Given the description of an element on the screen output the (x, y) to click on. 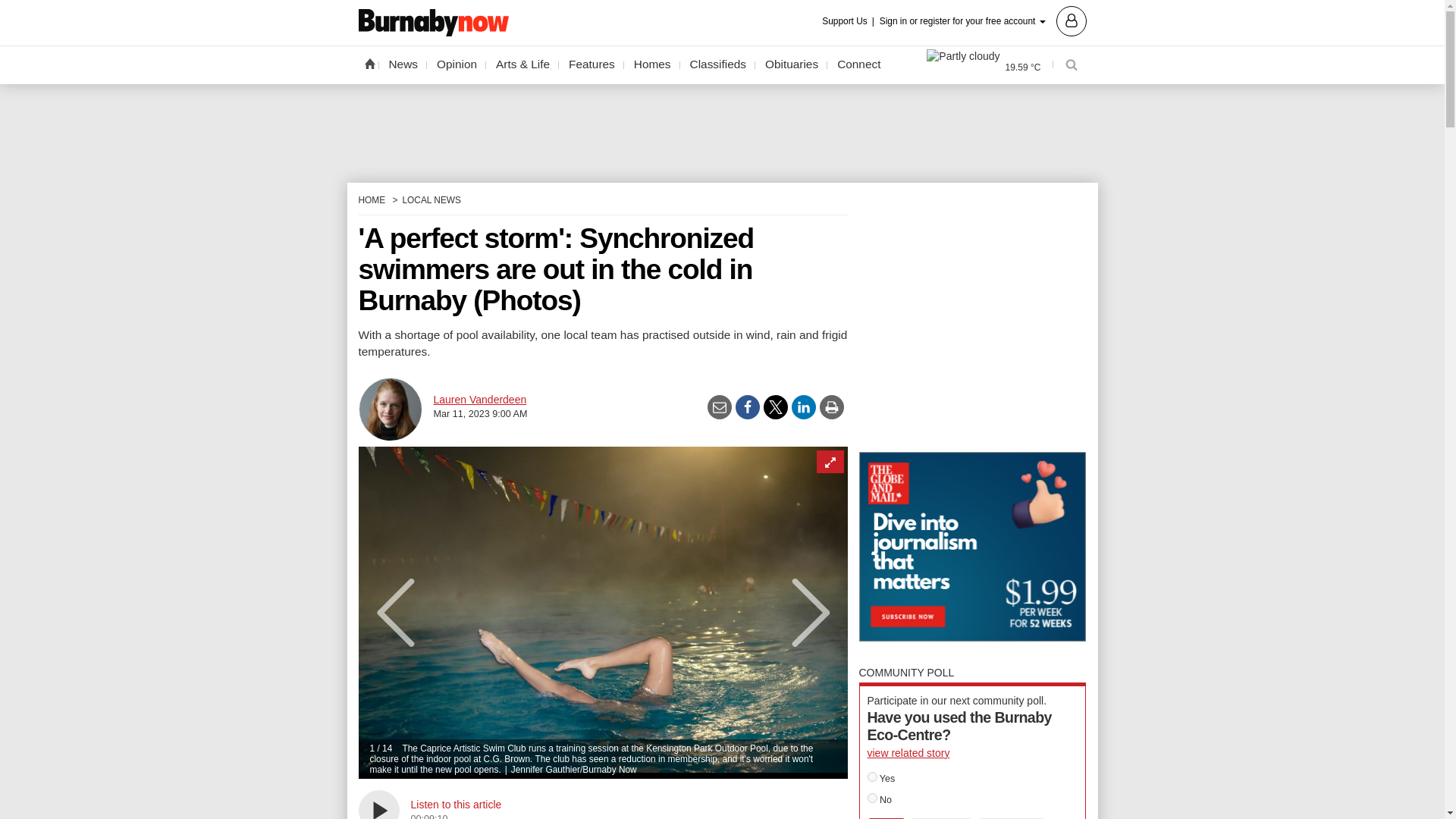
Sign in or register for your free account (982, 20)
Home (368, 63)
Expand (829, 461)
121285 (872, 777)
News (403, 64)
Support Us (849, 21)
121286 (872, 798)
Opinion (456, 64)
